Given the description of an element on the screen output the (x, y) to click on. 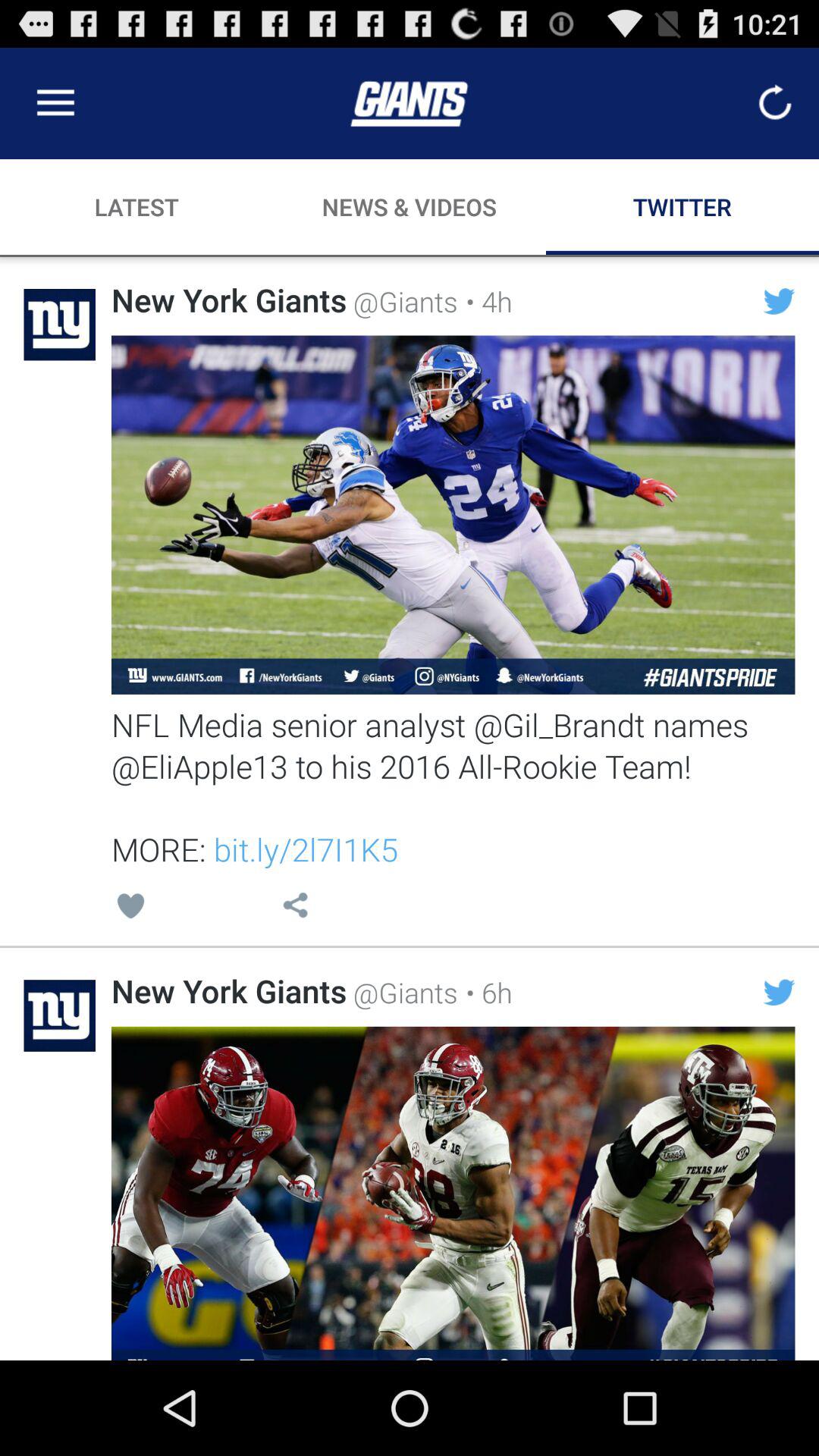
turn on the icon to the right of the @giants item (484, 301)
